Given the description of an element on the screen output the (x, y) to click on. 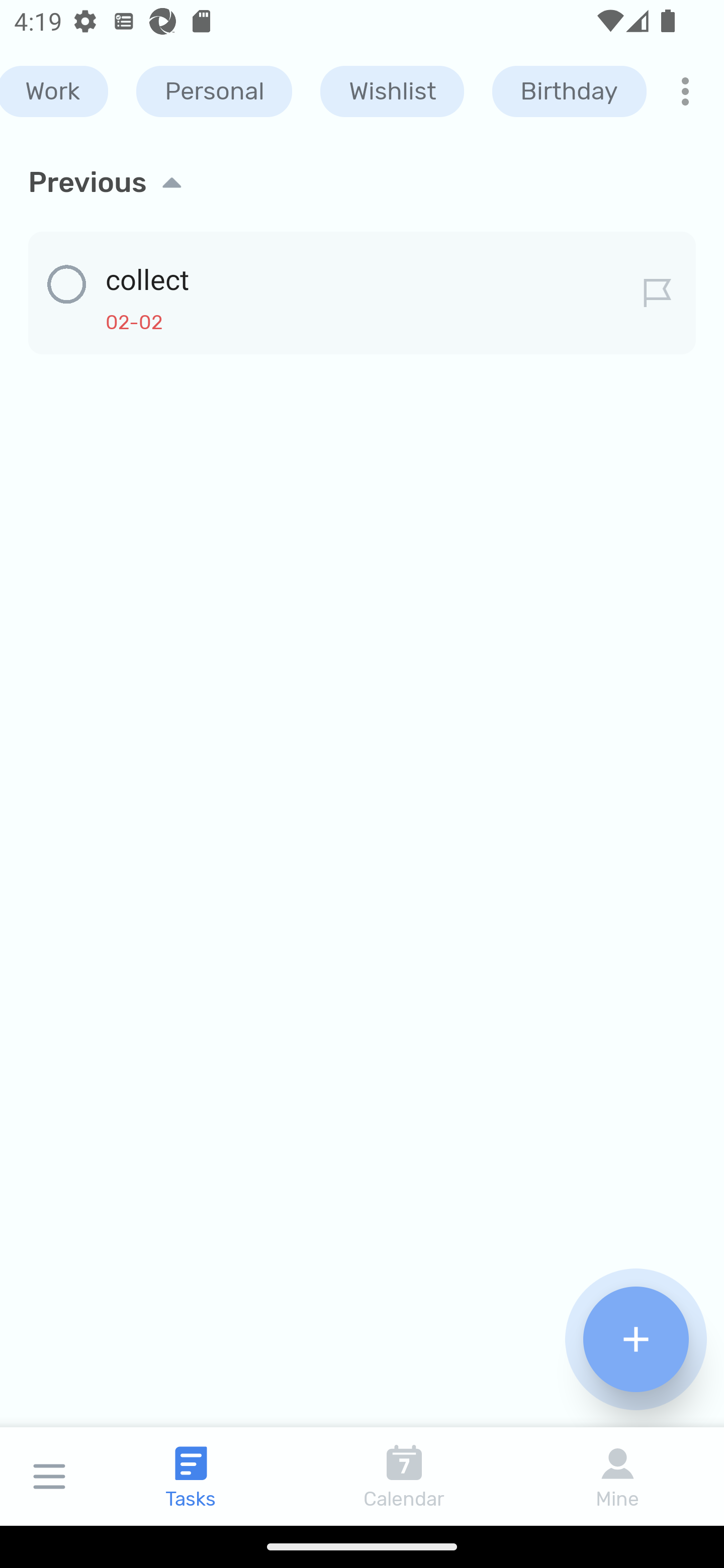
Work (53, 91)
Personal (213, 91)
Wishlist (392, 91)
Birthday (569, 91)
Previous (362, 182)
collect 02-02 (362, 289)
Tasks (190, 1475)
Calendar (404, 1475)
Mine (617, 1475)
